Given the description of an element on the screen output the (x, y) to click on. 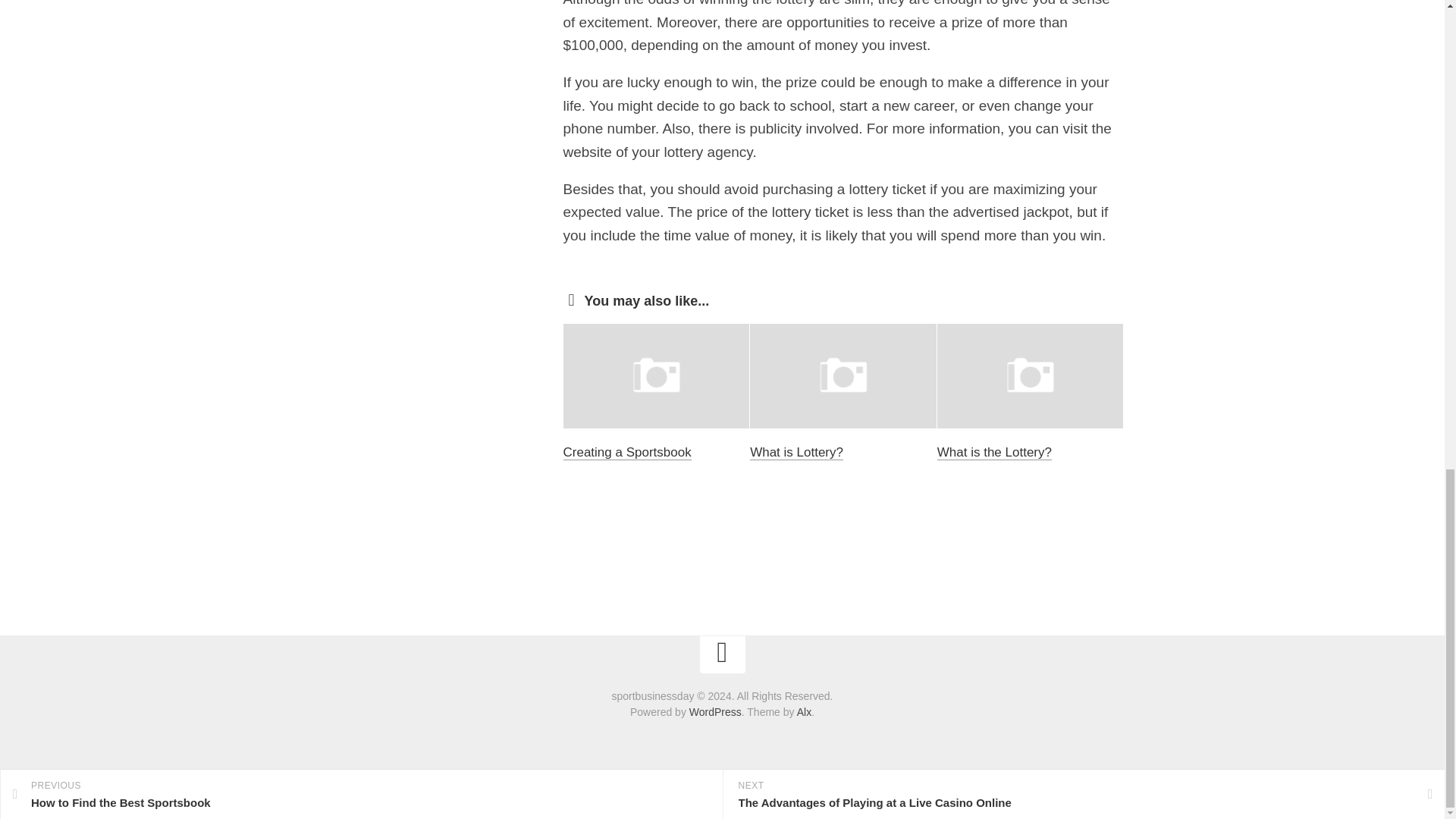
What is Lottery? (796, 452)
WordPress (714, 711)
Creating a Sportsbook (626, 452)
Alx (803, 711)
What is the Lottery? (994, 452)
